Given the description of an element on the screen output the (x, y) to click on. 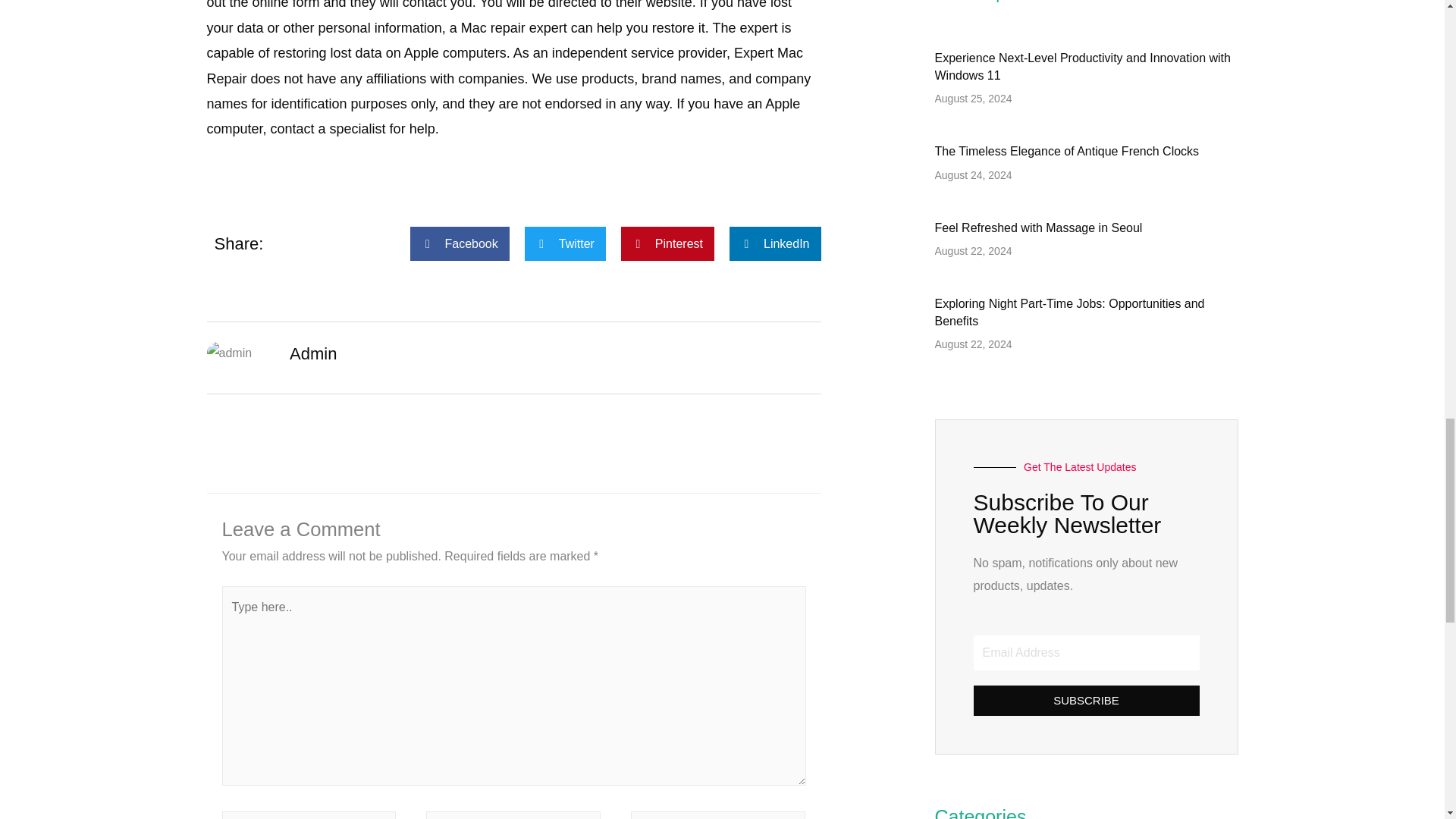
SUBSCRIBE (1086, 700)
Feel Refreshed with Massage in Seoul (1037, 227)
Exploring Night Part-Time Jobs: Opportunities and Benefits (1069, 311)
The Timeless Elegance of Antique French Clocks (1066, 151)
